Given the description of an element on the screen output the (x, y) to click on. 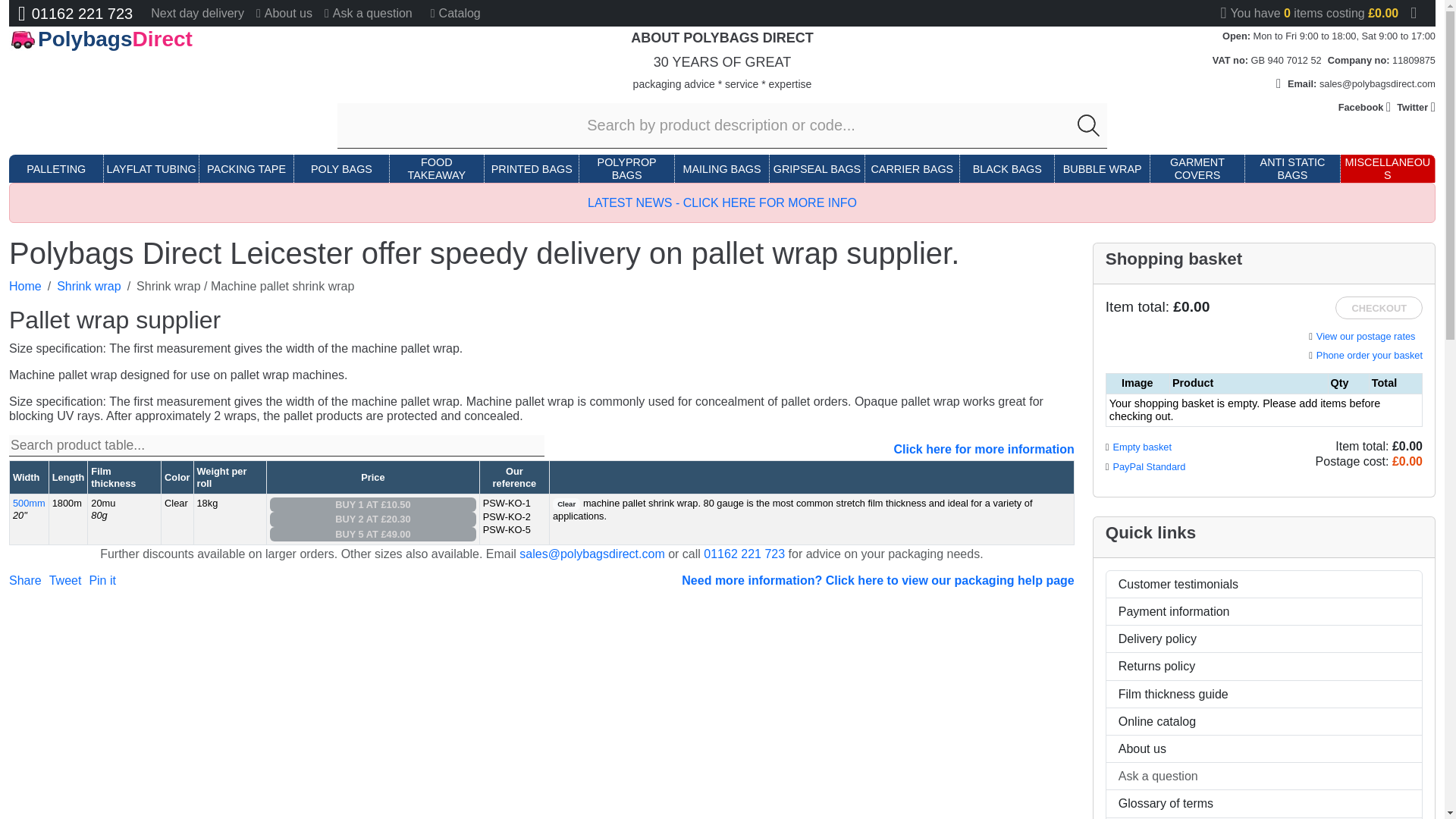
POLYPROP BAGS (625, 169)
PRINTED BAGS (532, 169)
GARMENT COVERS (1197, 169)
Next day delivery (197, 13)
Mon to Fri 9:00 to 18:00, Sat 9:00 to 17:00 (1344, 35)
PolybagsDirect (151, 39)
CARRIER BAGS (911, 169)
ANTI STATIC BAGS (1292, 169)
MAILING BAGS (721, 169)
01162 221 723 (74, 13)
BLACK BAGS (1007, 169)
Facebook (1364, 107)
FOOD TAKEAWAY (436, 169)
LAYFLAT TUBING (151, 169)
PACKING TAPE (245, 169)
